Given the description of an element on the screen output the (x, y) to click on. 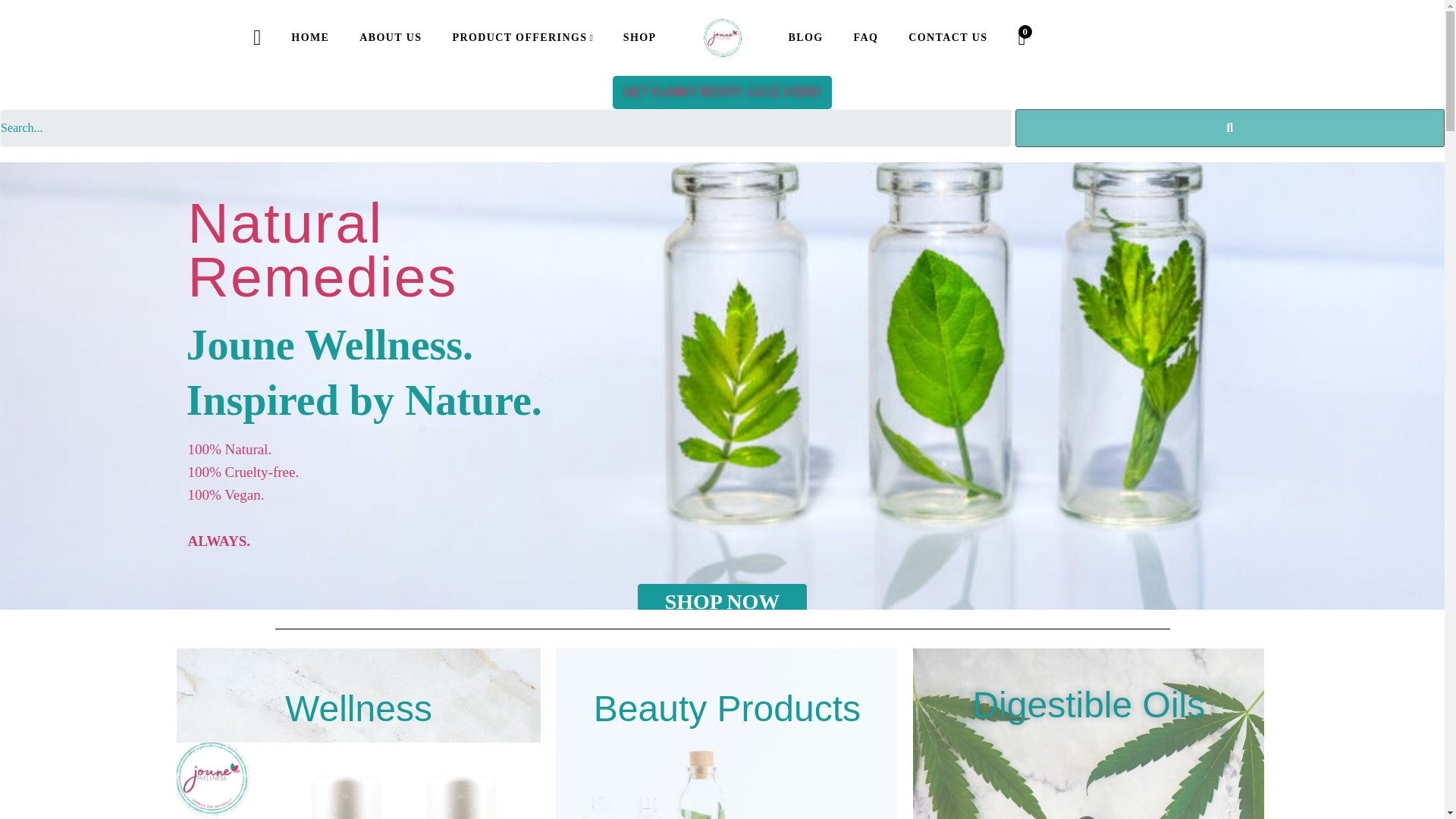
SHOP NOW (722, 614)
Search (505, 127)
CONTACT US (947, 38)
PRODUCT OFFERINGS (521, 38)
Wellness (358, 708)
Beauty Products (727, 708)
GET GUMMY BERRY JUICE HERE! (770, 92)
Digestible Oils (1088, 704)
Joune Wellness-Embrace you, naturally! (721, 37)
